Given the description of an element on the screen output the (x, y) to click on. 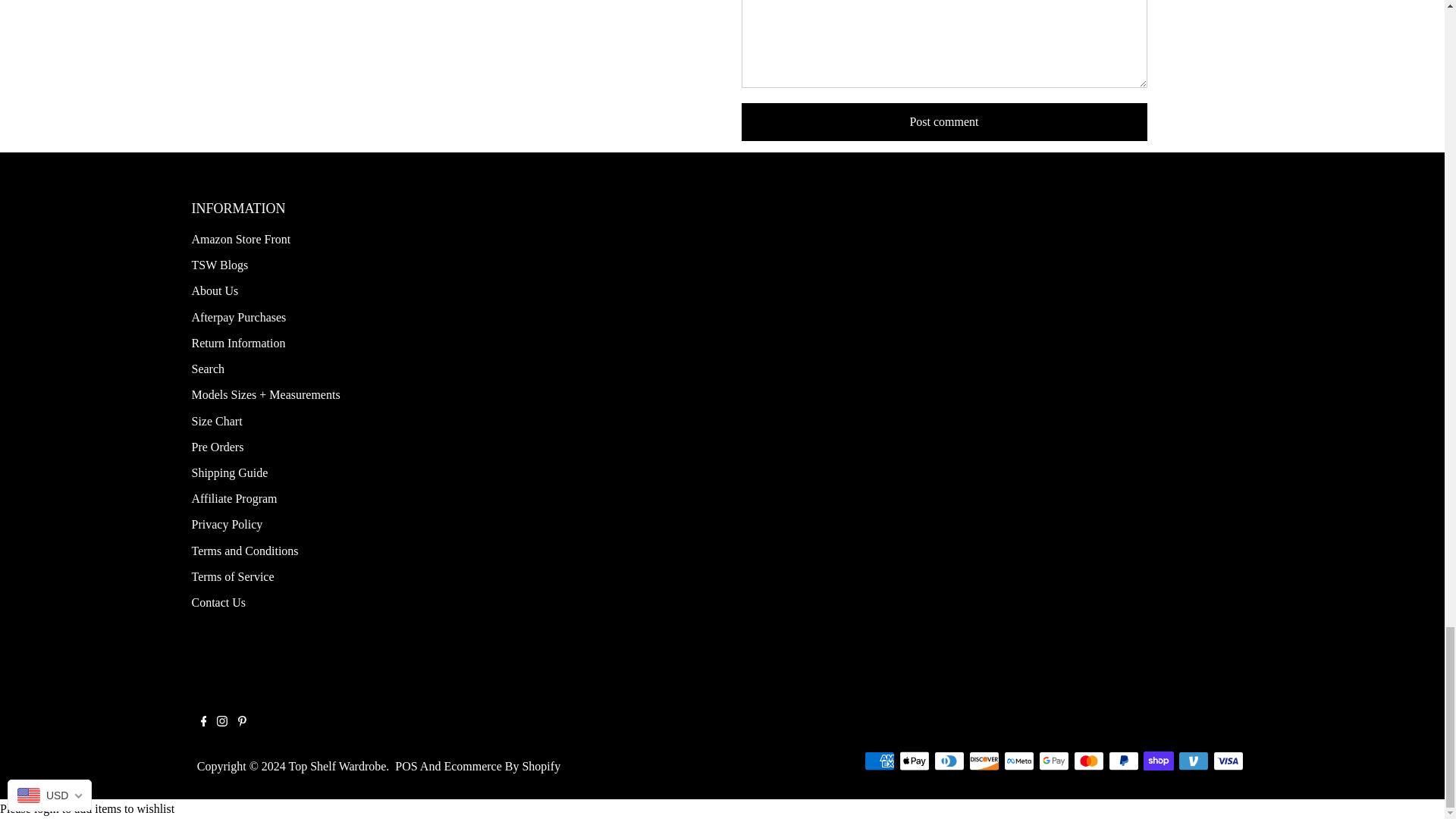
American Express (879, 760)
Apple Pay (914, 760)
Diners Club (948, 760)
Post comment (944, 121)
Discover (983, 760)
